Given the description of an element on the screen output the (x, y) to click on. 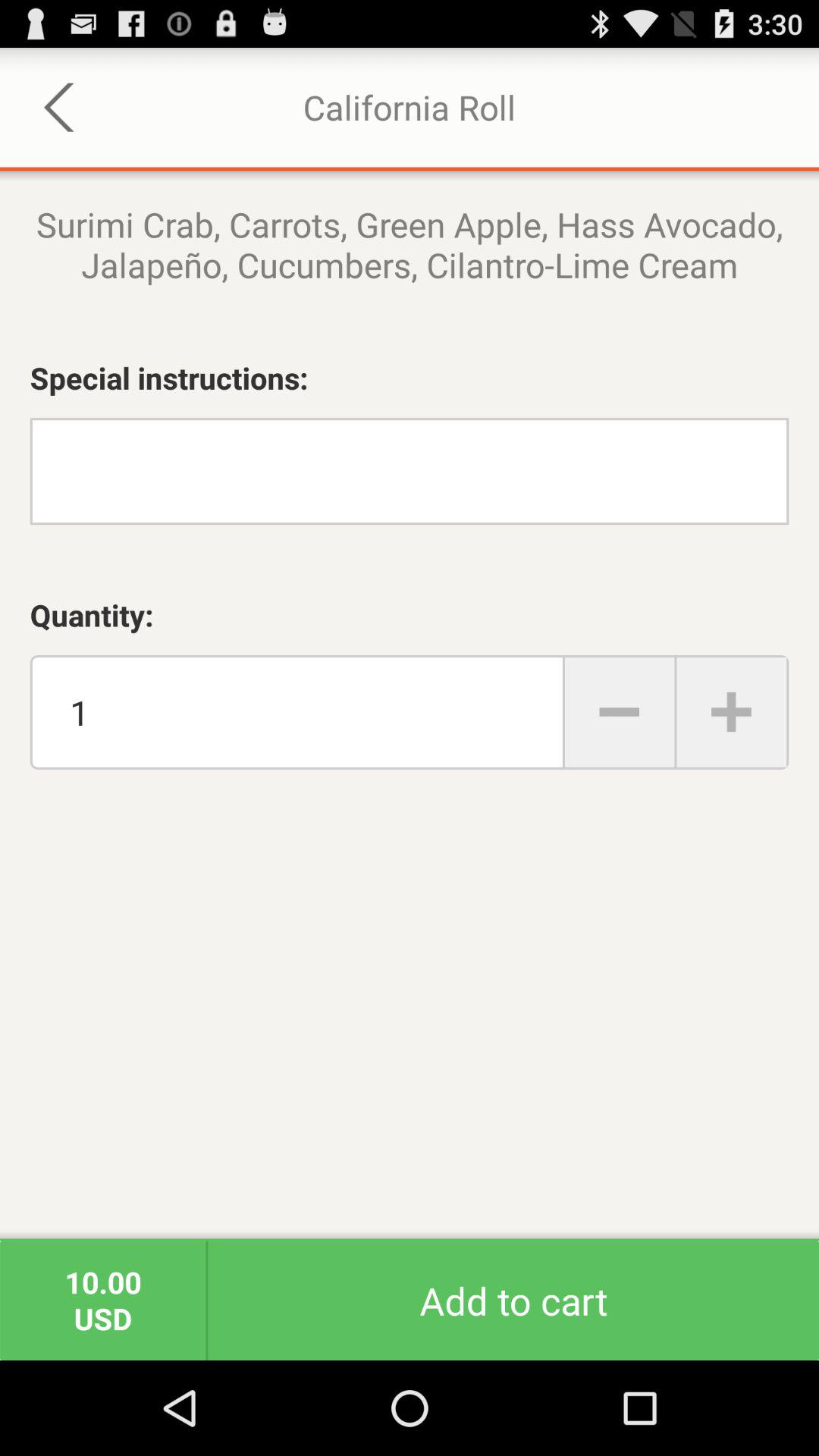
write special instructions (409, 471)
